Given the description of an element on the screen output the (x, y) to click on. 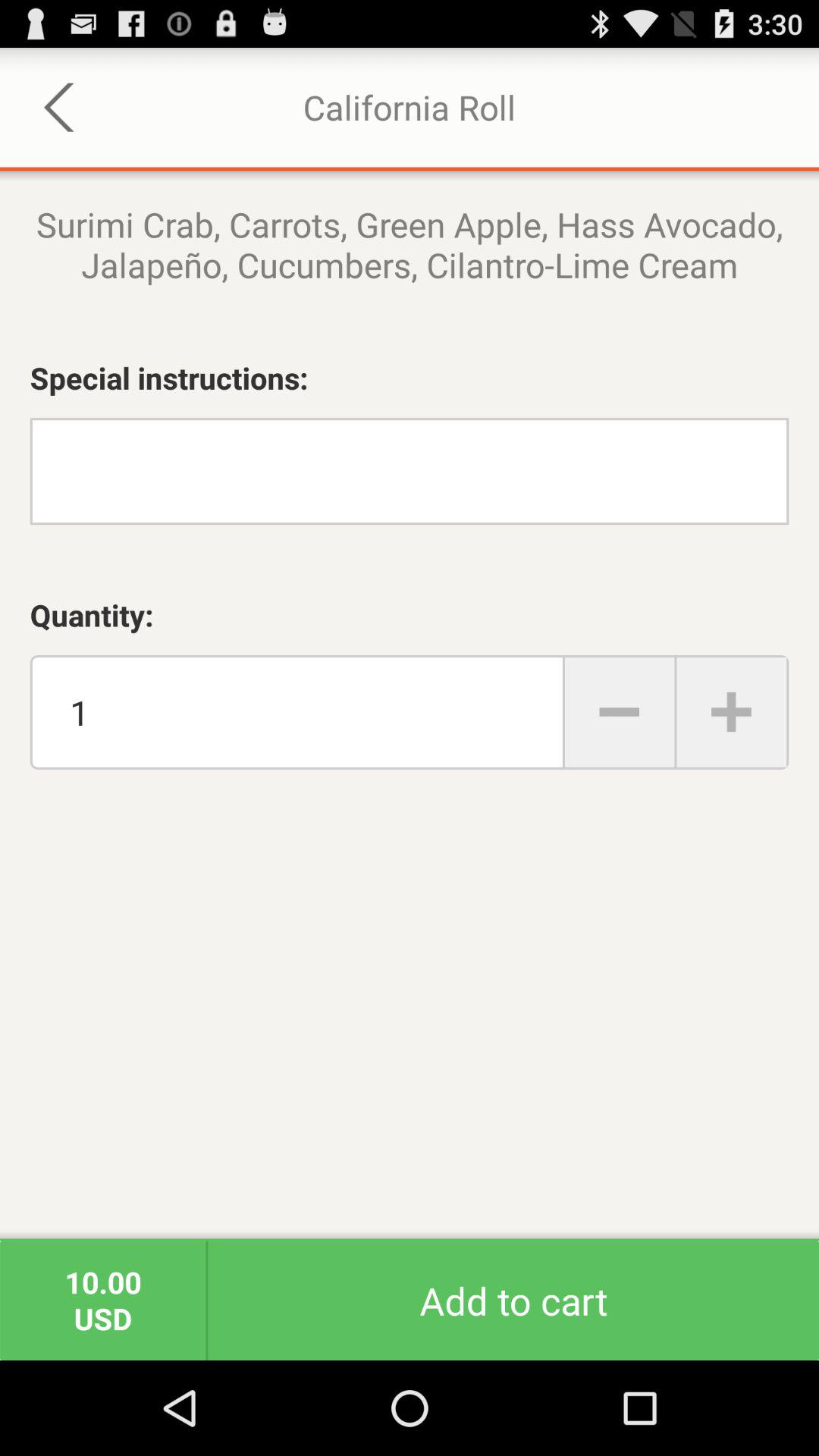
write special instructions (409, 471)
